Given the description of an element on the screen output the (x, y) to click on. 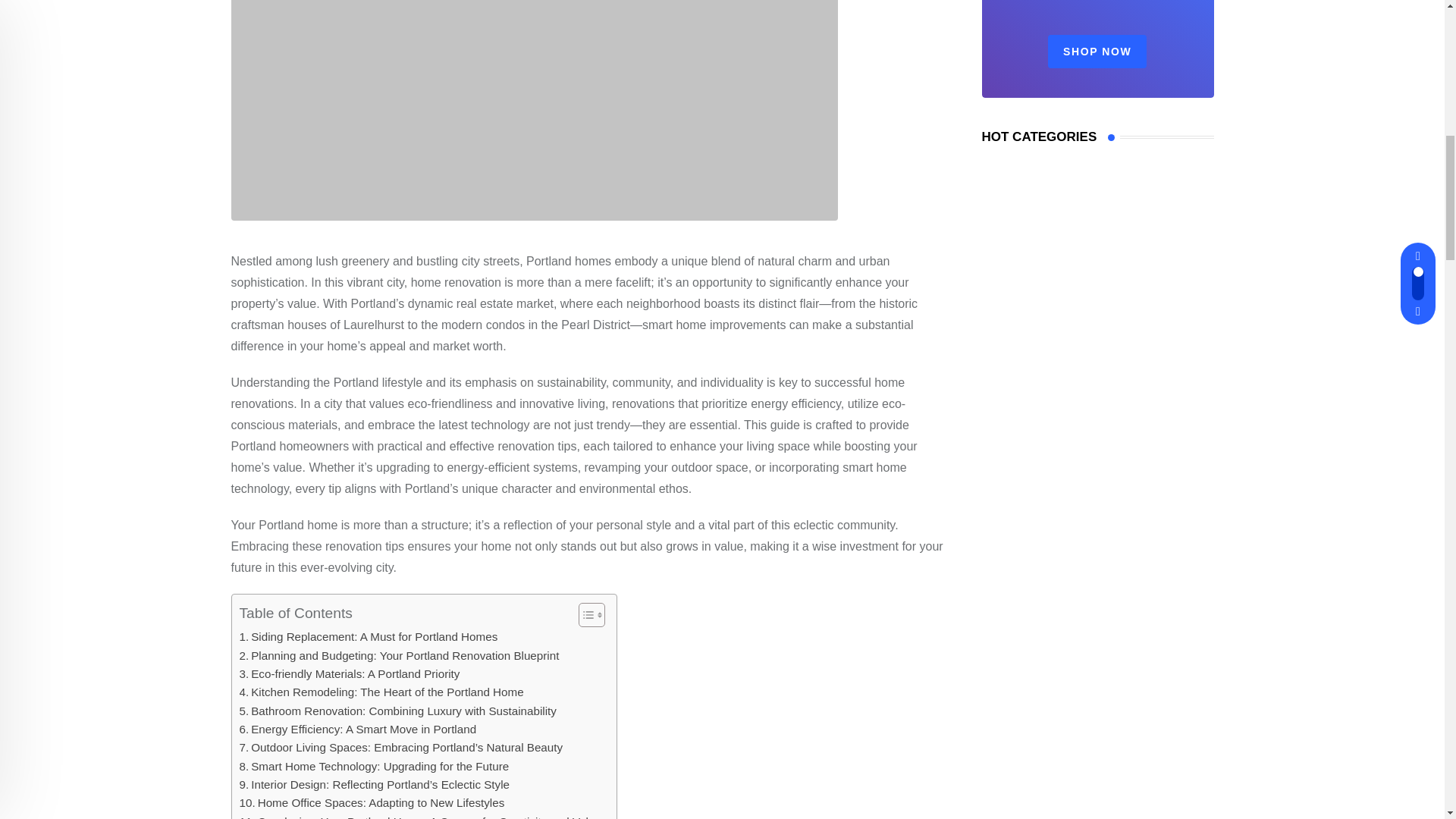
Siding Replacement: A Must for Portland Homes (368, 637)
Eco-friendly Materials: A Portland Priority (350, 674)
Planning and Budgeting: Your Portland Renovation Blueprint (399, 656)
Smart Home Technology: Upgrading for the Future (374, 766)
Bathroom Renovation: Combining Luxury with Sustainability (398, 710)
Kitchen Remodeling: The Heart of the Portland Home (382, 692)
Energy Efficiency: A Smart Move in Portland (358, 729)
